Given the description of an element on the screen output the (x, y) to click on. 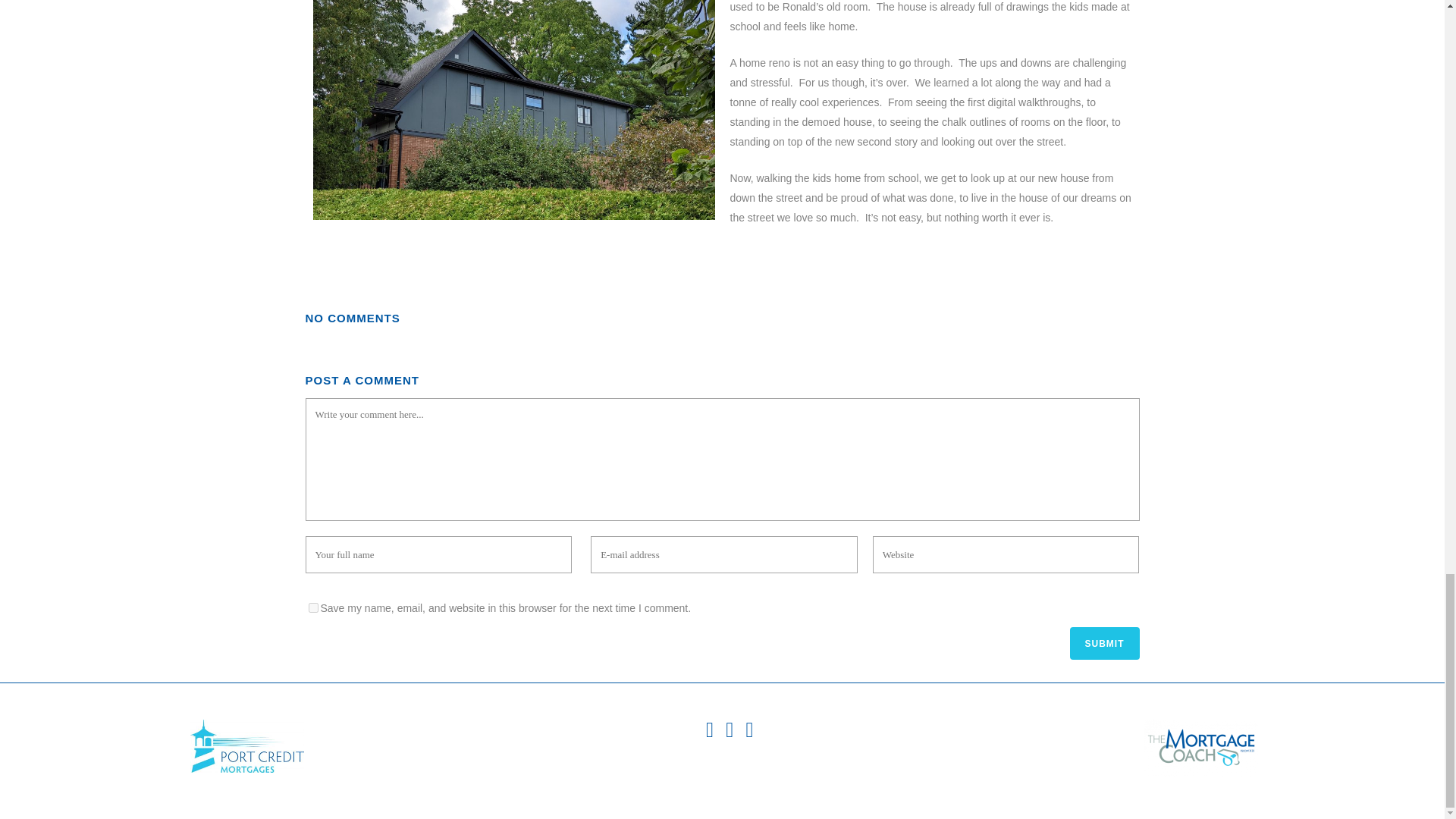
Submit (1103, 643)
Submit (1103, 643)
yes (312, 607)
